Given the description of an element on the screen output the (x, y) to click on. 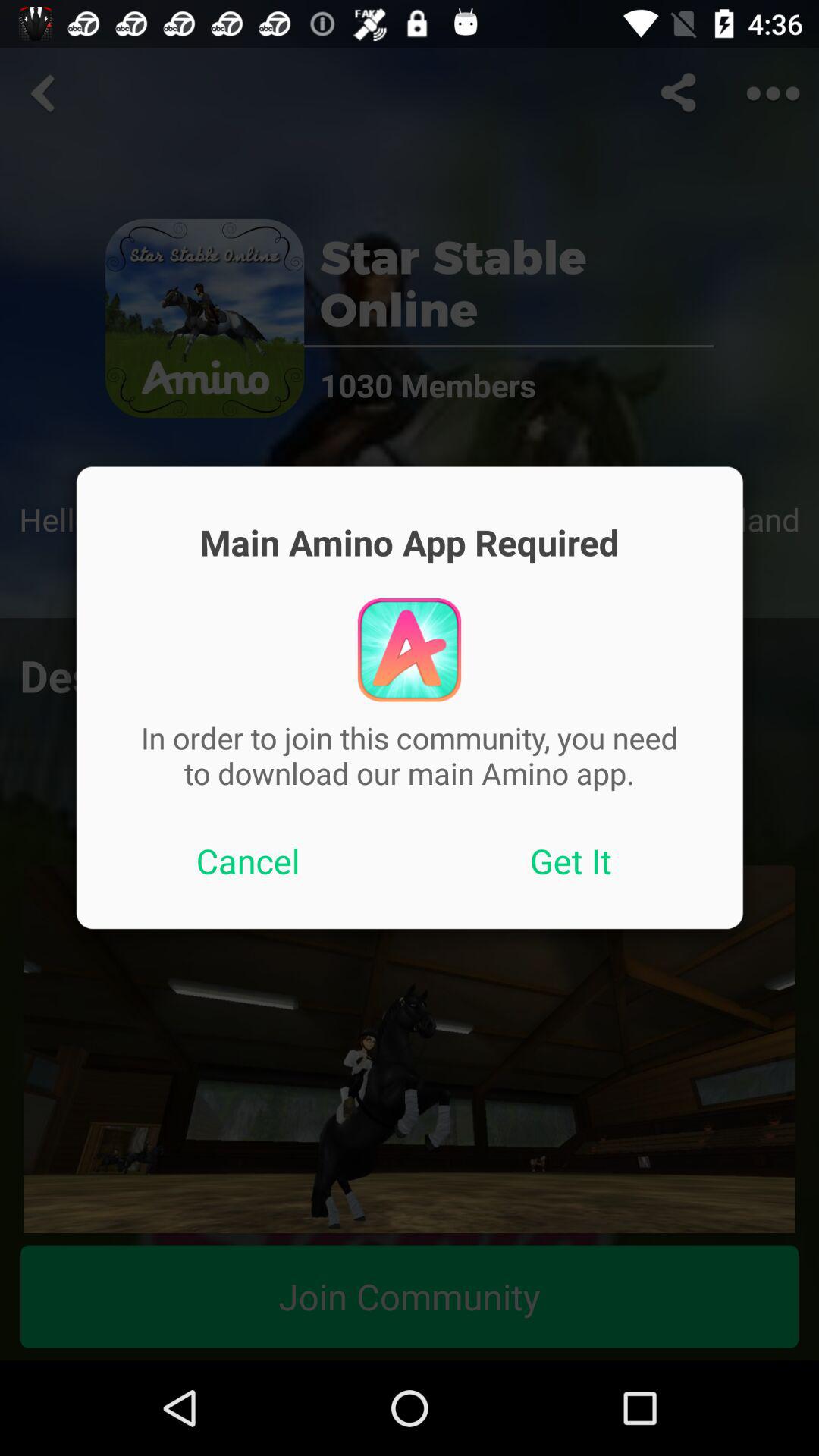
launch app below the in order to icon (247, 860)
